Given the description of an element on the screen output the (x, y) to click on. 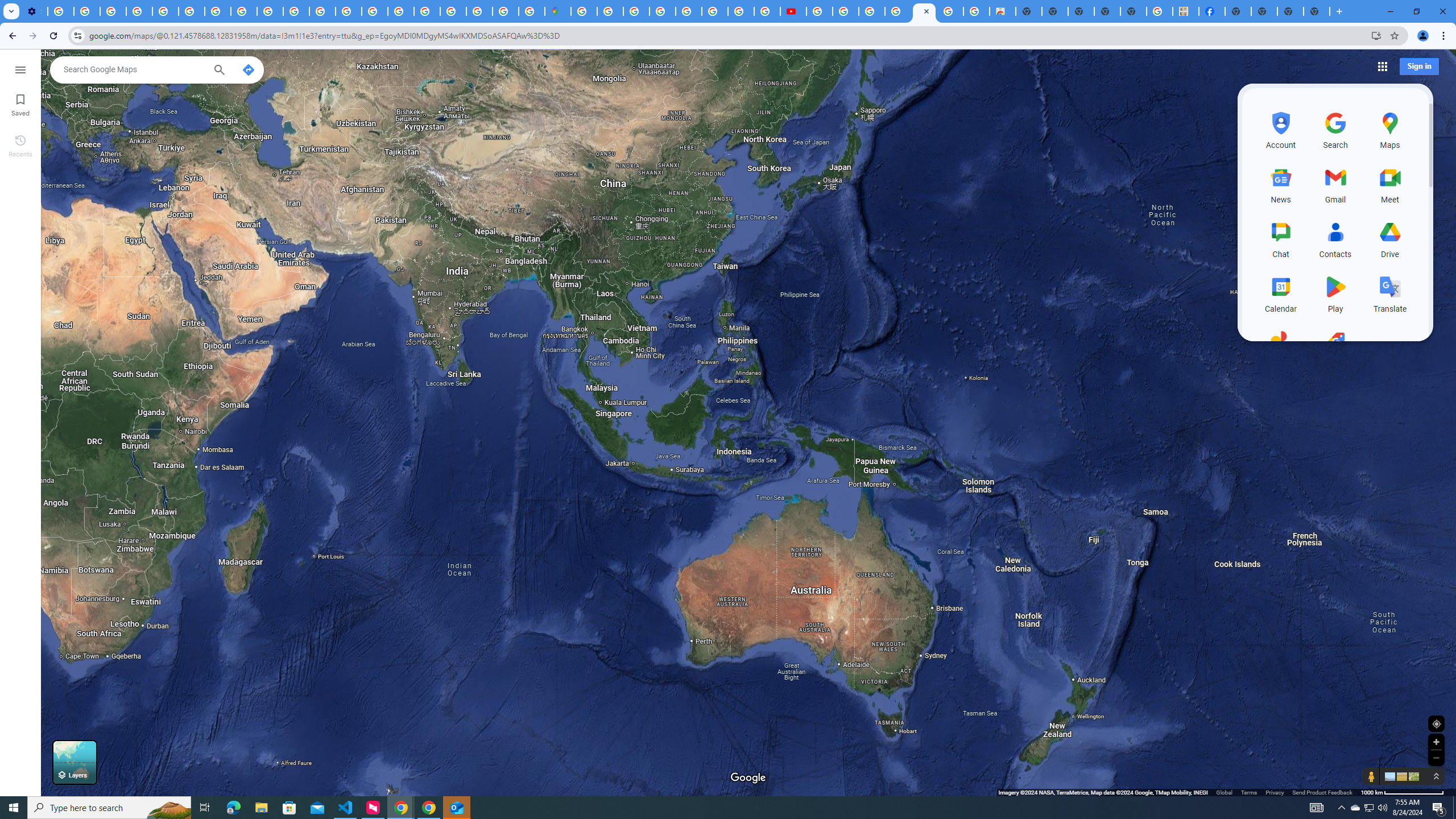
Learn how to find your photos - Google Photos Help (86, 11)
1000 km (1401, 792)
Global (1224, 792)
Subscriptions - YouTube (792, 11)
Privacy (1274, 792)
Saved (20, 104)
Delete photos & videos - Computer - Google Photos Help (60, 11)
New Tab (1316, 11)
Search Google Maps (133, 69)
How Chrome protects your passwords - Google Chrome Help (818, 11)
Google Account Help (138, 11)
